Given the description of an element on the screen output the (x, y) to click on. 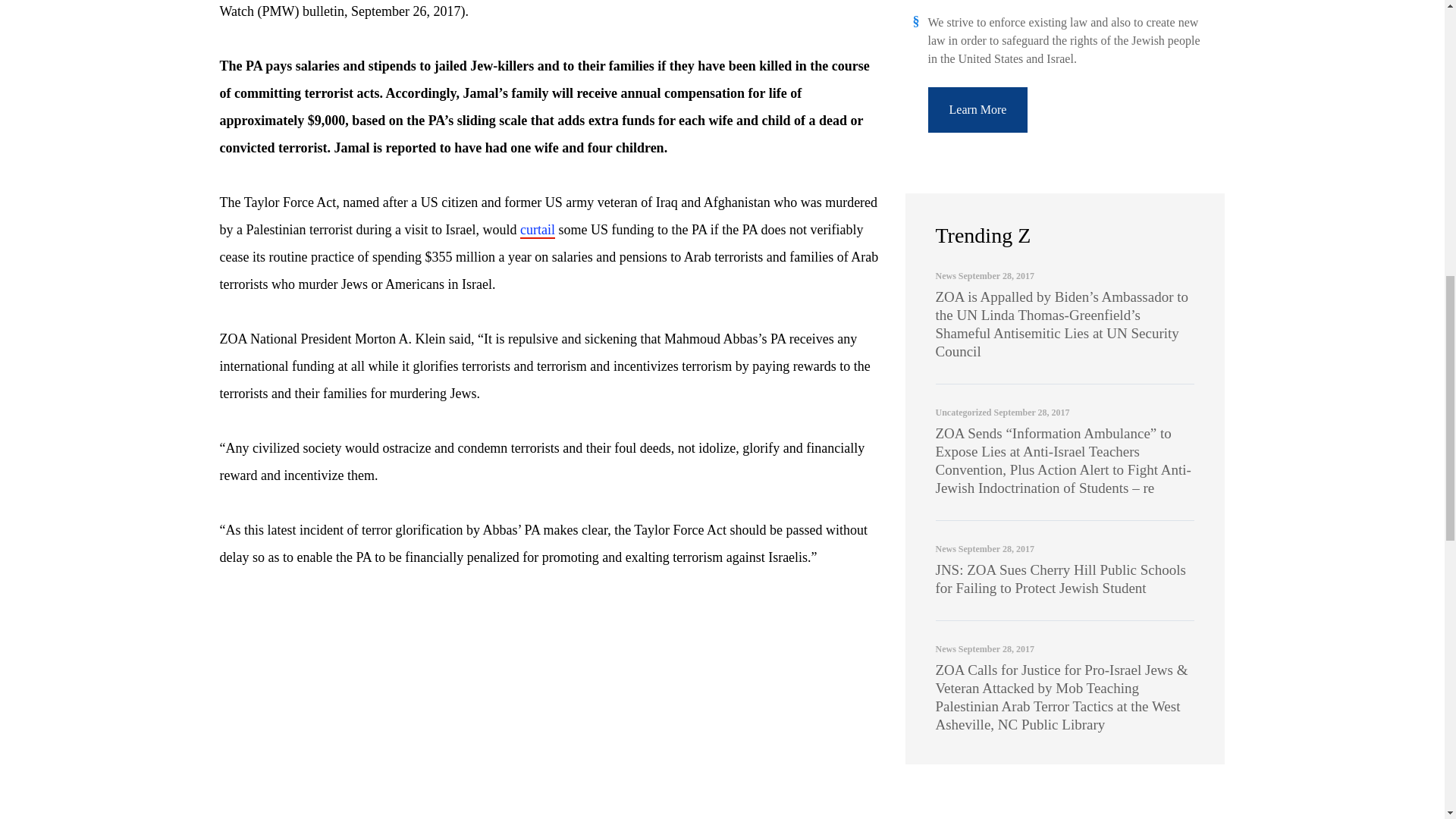
News (946, 648)
News (946, 276)
Uncategorized (963, 412)
News (946, 548)
